Given the description of an element on the screen output the (x, y) to click on. 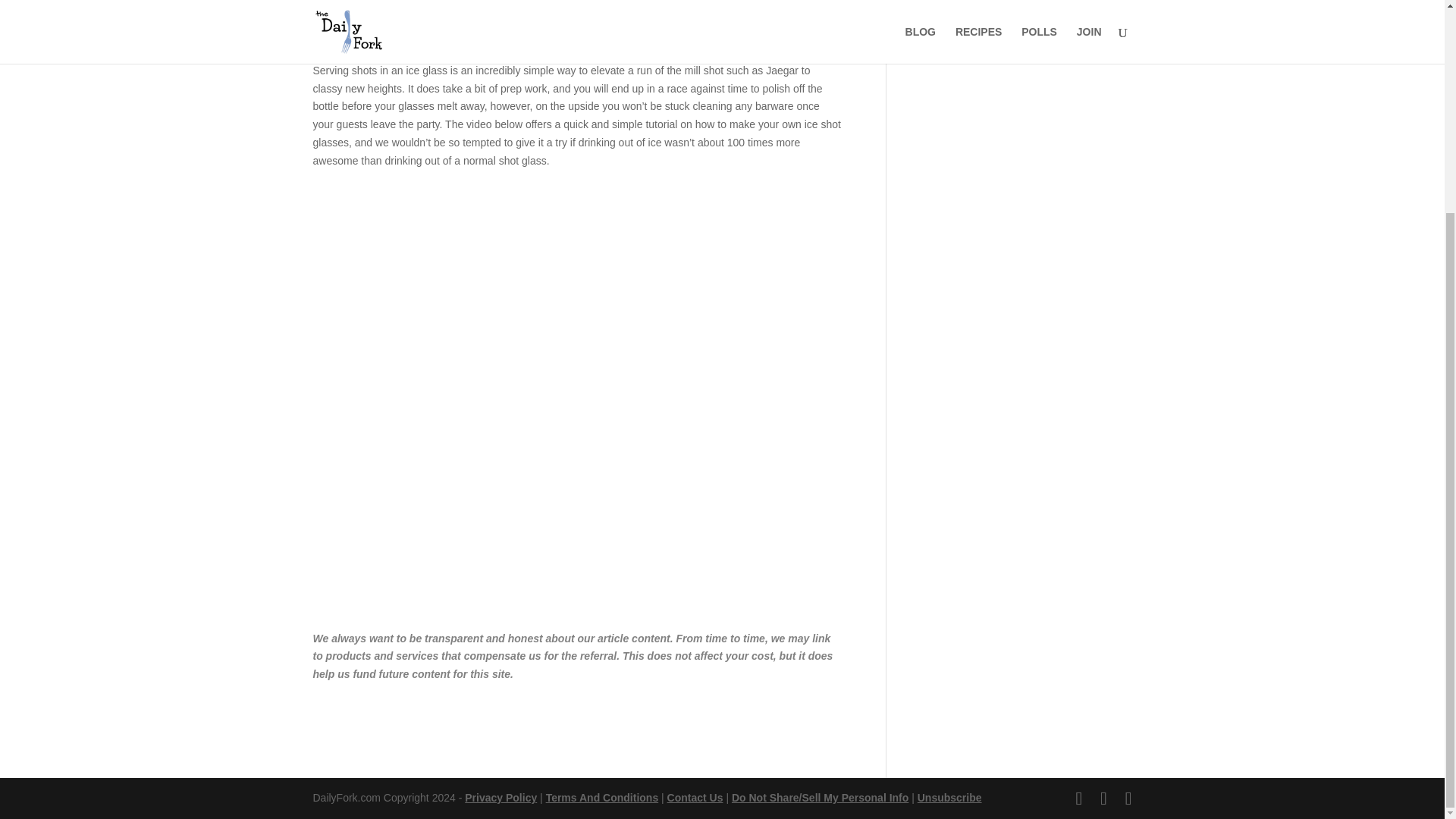
Terms And Conditions (602, 797)
Contact Us (694, 797)
Advertisement (1019, 400)
Unsubscribe (949, 797)
Advertisement (577, 28)
Privacy Policy (500, 797)
